Given the description of an element on the screen output the (x, y) to click on. 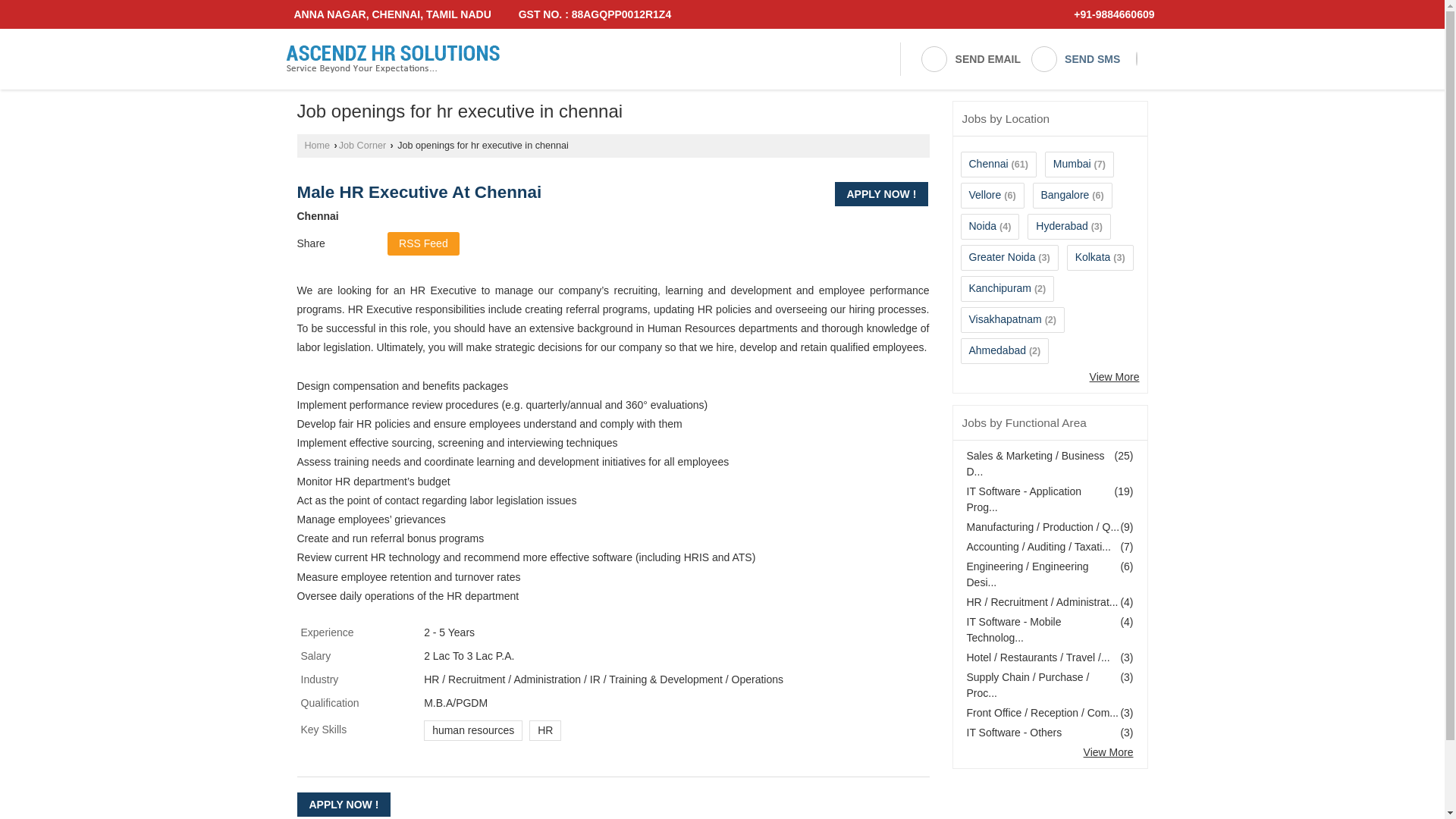
APPLY NOW ! (344, 804)
SEND SMS (1075, 59)
SEND EMAIL (970, 59)
APPLY NOW ! (881, 193)
Ascendz HR Solutions (392, 58)
